Given the description of an element on the screen output the (x, y) to click on. 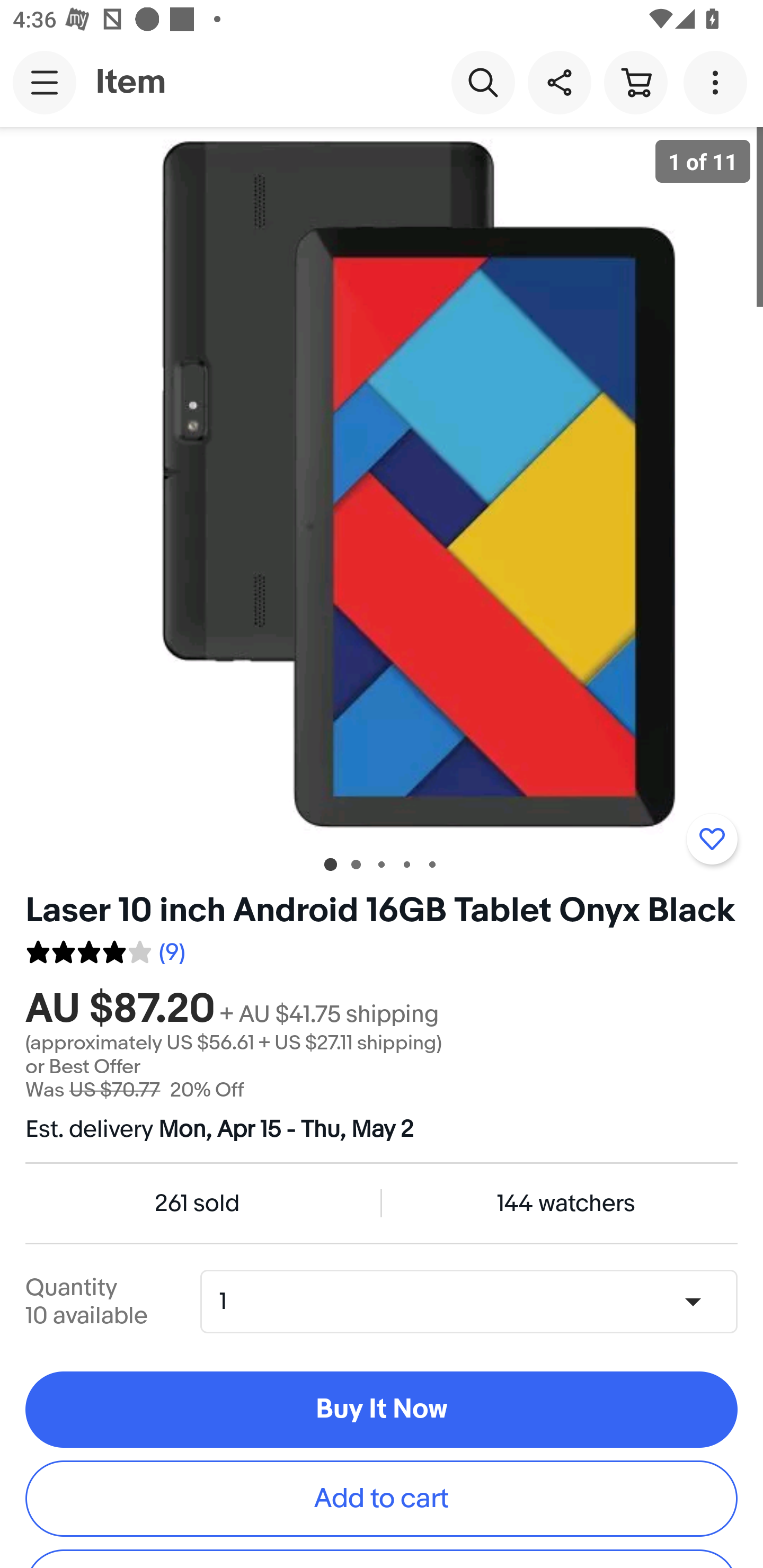
Main navigation, open (44, 82)
Search (482, 81)
Share this item (559, 81)
Cart button shopping cart (635, 81)
More options (718, 81)
Item image 1 of 11 (381, 482)
Add to watchlist (711, 838)
9 reviews. Average rating 4.22 out of five 8.0 (9) (104, 948)
Quantity,1,10 available 1 (474, 1301)
Buy It Now (381, 1409)
Add to cart (381, 1497)
